Given the description of an element on the screen output the (x, y) to click on. 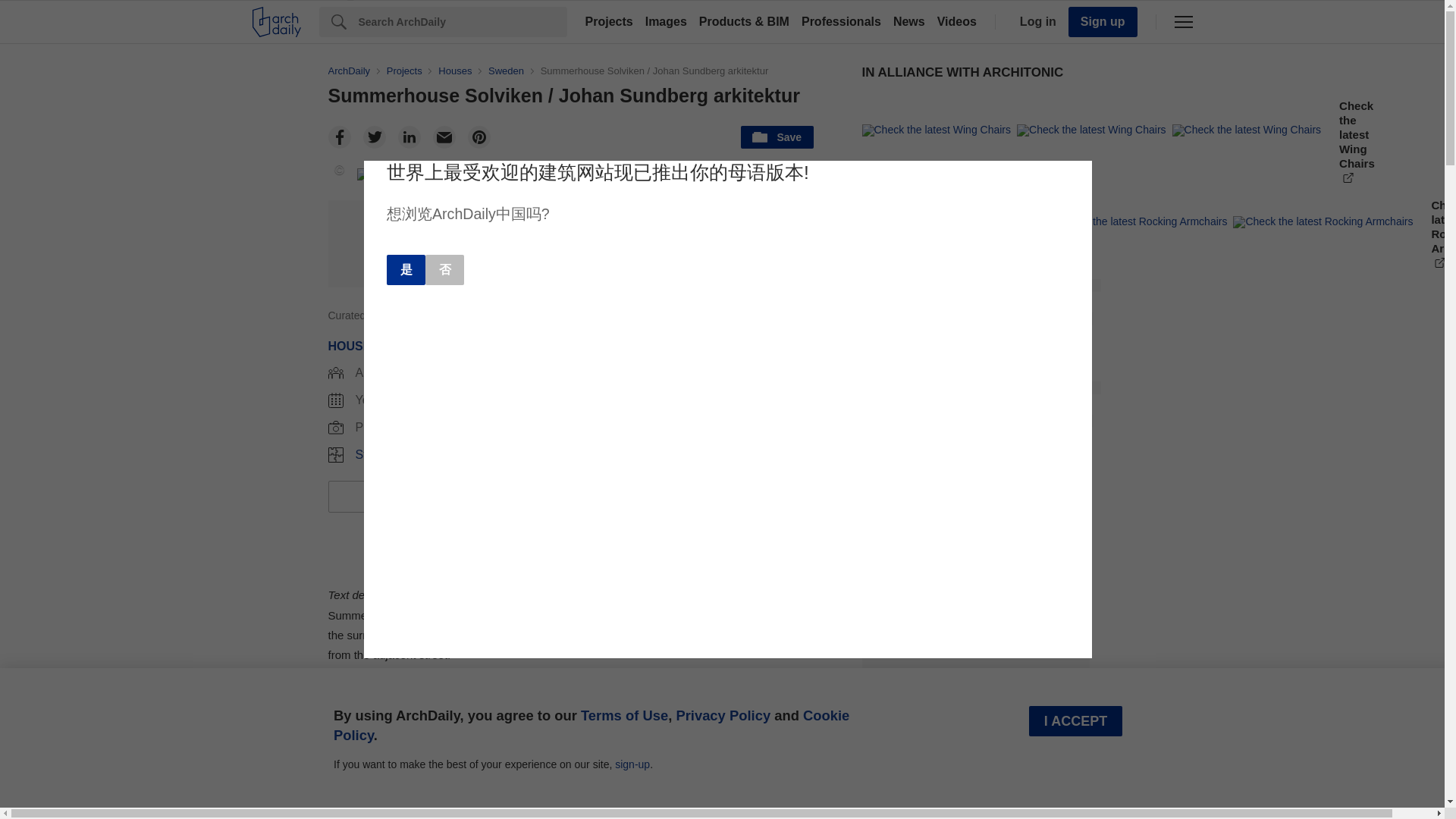
Images (666, 21)
Videos (956, 21)
Log in (1035, 21)
Professionals (840, 21)
News (908, 21)
Projects (609, 21)
Sign up (1102, 21)
